Given the description of an element on the screen output the (x, y) to click on. 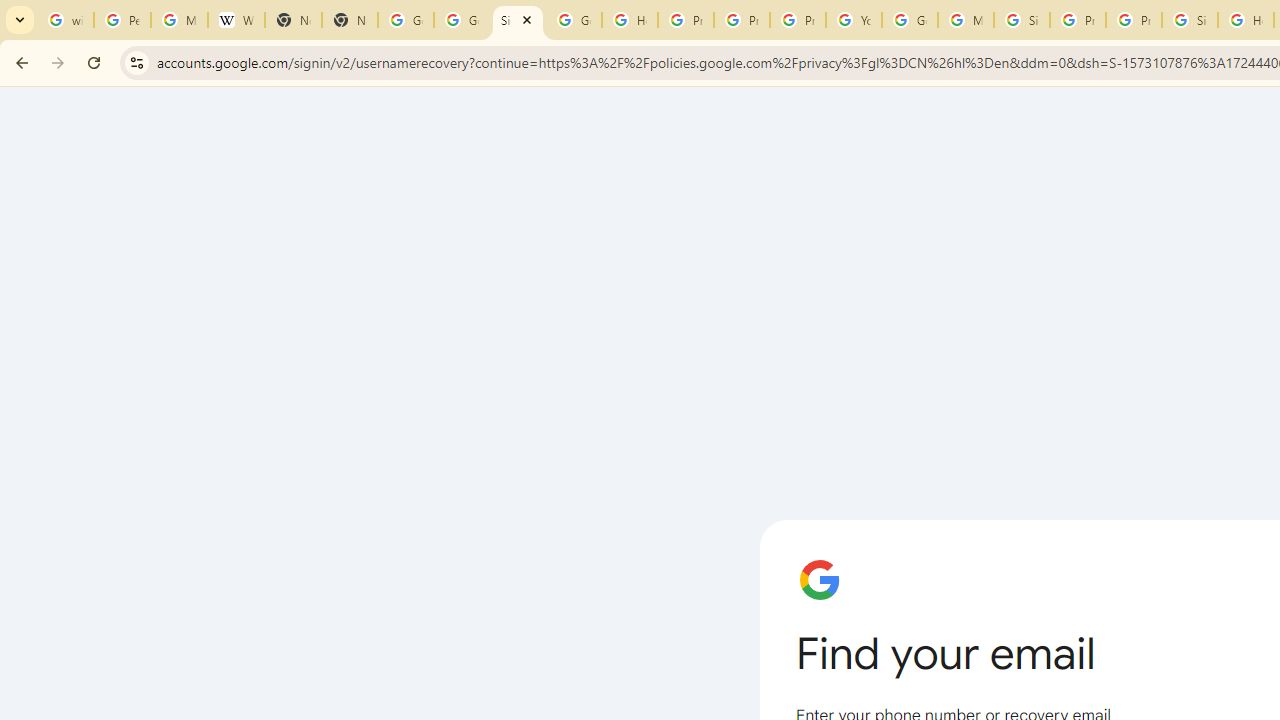
Sign in - Google Accounts (1021, 20)
Google Account Help (909, 20)
Google Drive: Sign-in (461, 20)
New Tab (349, 20)
New Tab (293, 20)
Personalization & Google Search results - Google Search Help (122, 20)
Sign in - Google Accounts (518, 20)
YouTube (853, 20)
